Given the description of an element on the screen output the (x, y) to click on. 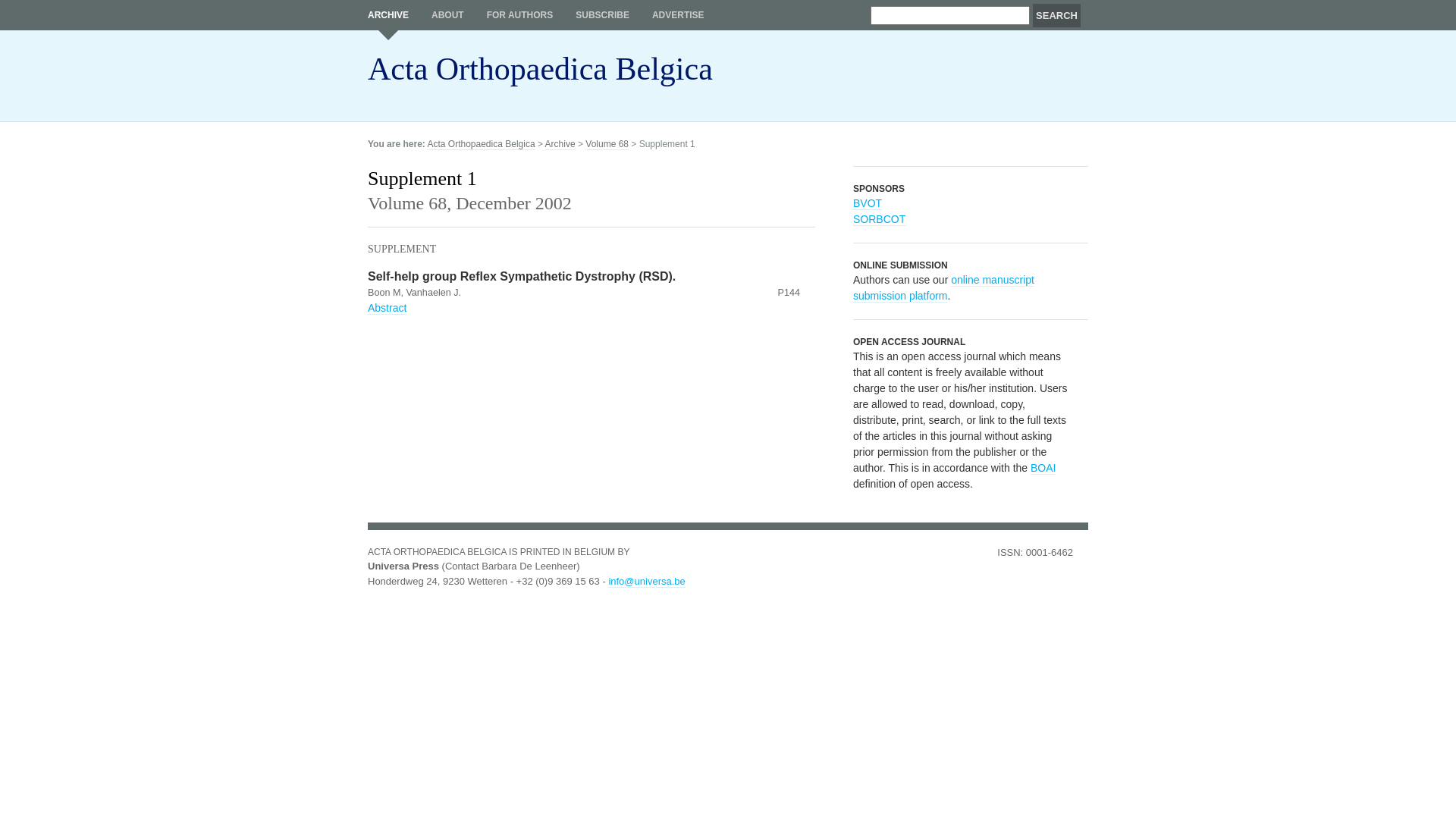
Search Element type: text (1056, 15)
info@universa.be Element type: text (646, 580)
BVOT Element type: text (867, 203)
Archive Element type: text (560, 144)
SUBSCRIBE Element type: text (602, 15)
FOR AUTHORS Element type: text (519, 15)
Volume 68 Element type: text (606, 144)
online manuscript submission platform Element type: text (943, 287)
SORBCOT Element type: text (879, 219)
Acta Orthopaedica Belgica Element type: text (539, 75)
ADVERTISE Element type: text (678, 15)
Acta Orthopaedica Belgica Element type: text (480, 144)
BOAI Element type: text (1042, 467)
ARCHIVE Element type: text (387, 20)
ABOUT Element type: text (447, 15)
Abstract Element type: text (386, 307)
